Given the description of an element on the screen output the (x, y) to click on. 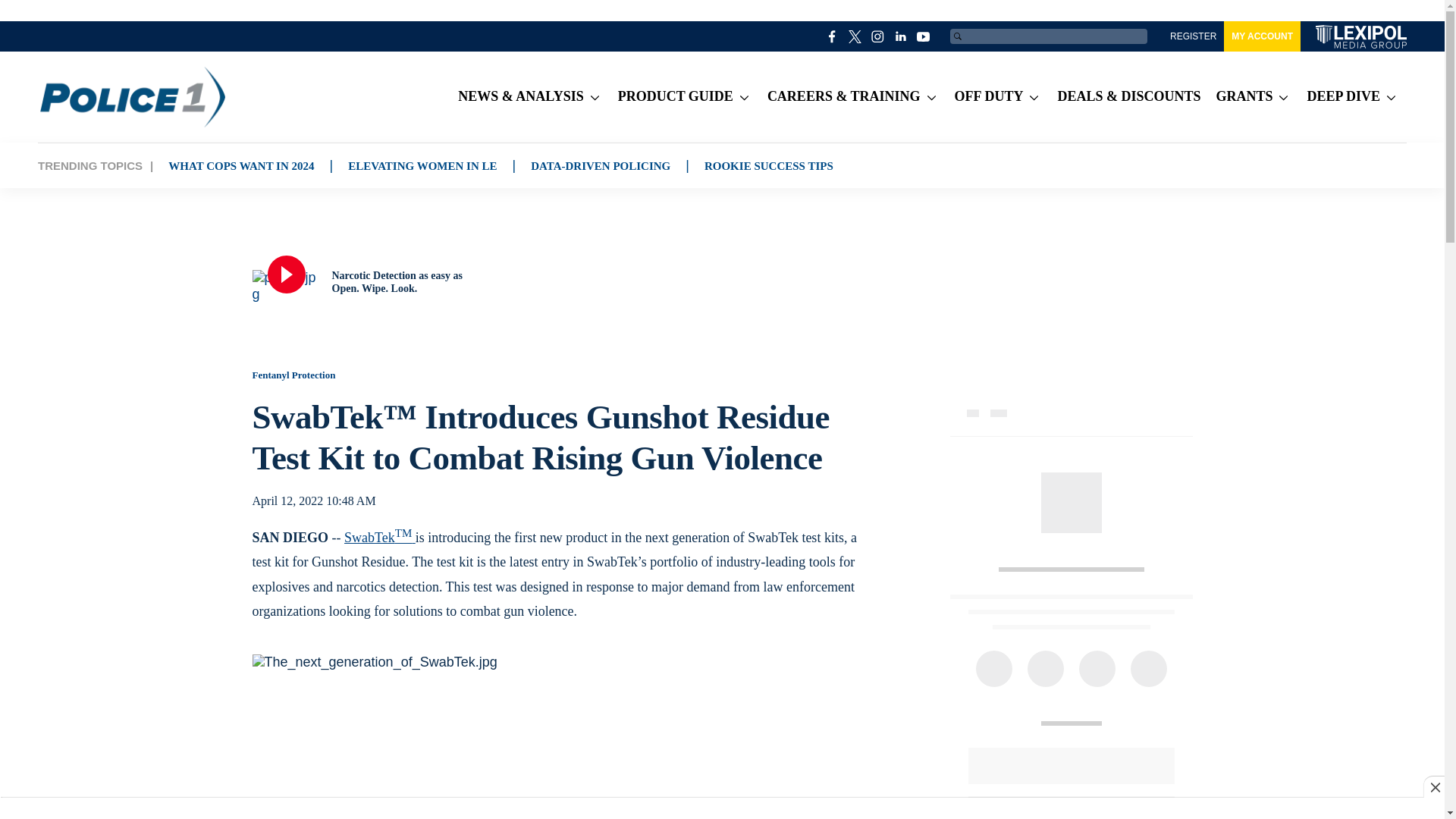
linkedin (900, 36)
instagram (877, 36)
facebook (832, 36)
youtube (923, 36)
twitter (855, 36)
REGISTER (1192, 36)
MY ACCOUNT (1262, 36)
